Given the description of an element on the screen output the (x, y) to click on. 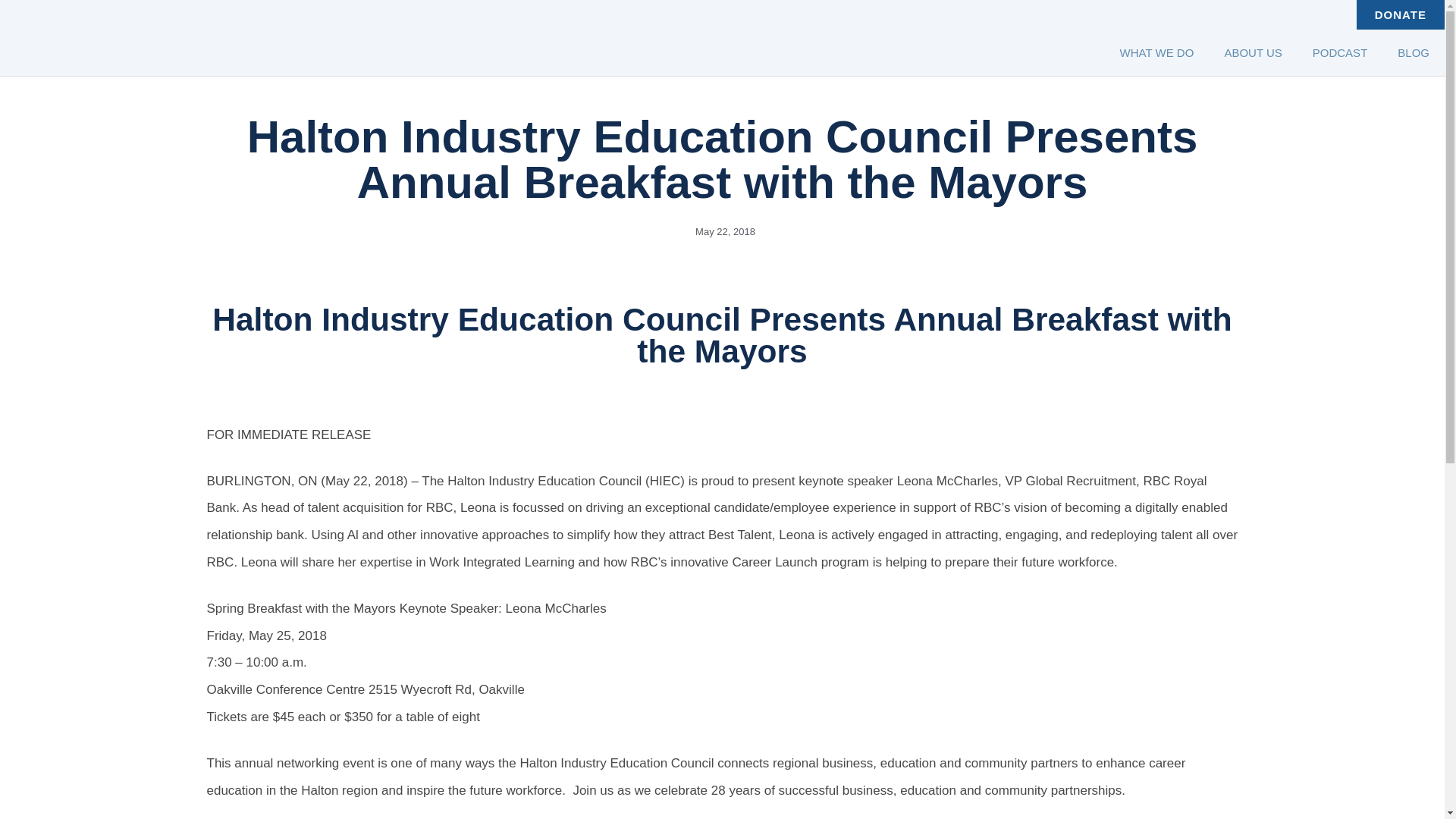
ABOUT US (1252, 53)
WHAT WE DO (1157, 53)
PODCAST (1340, 53)
